Given the description of an element on the screen output the (x, y) to click on. 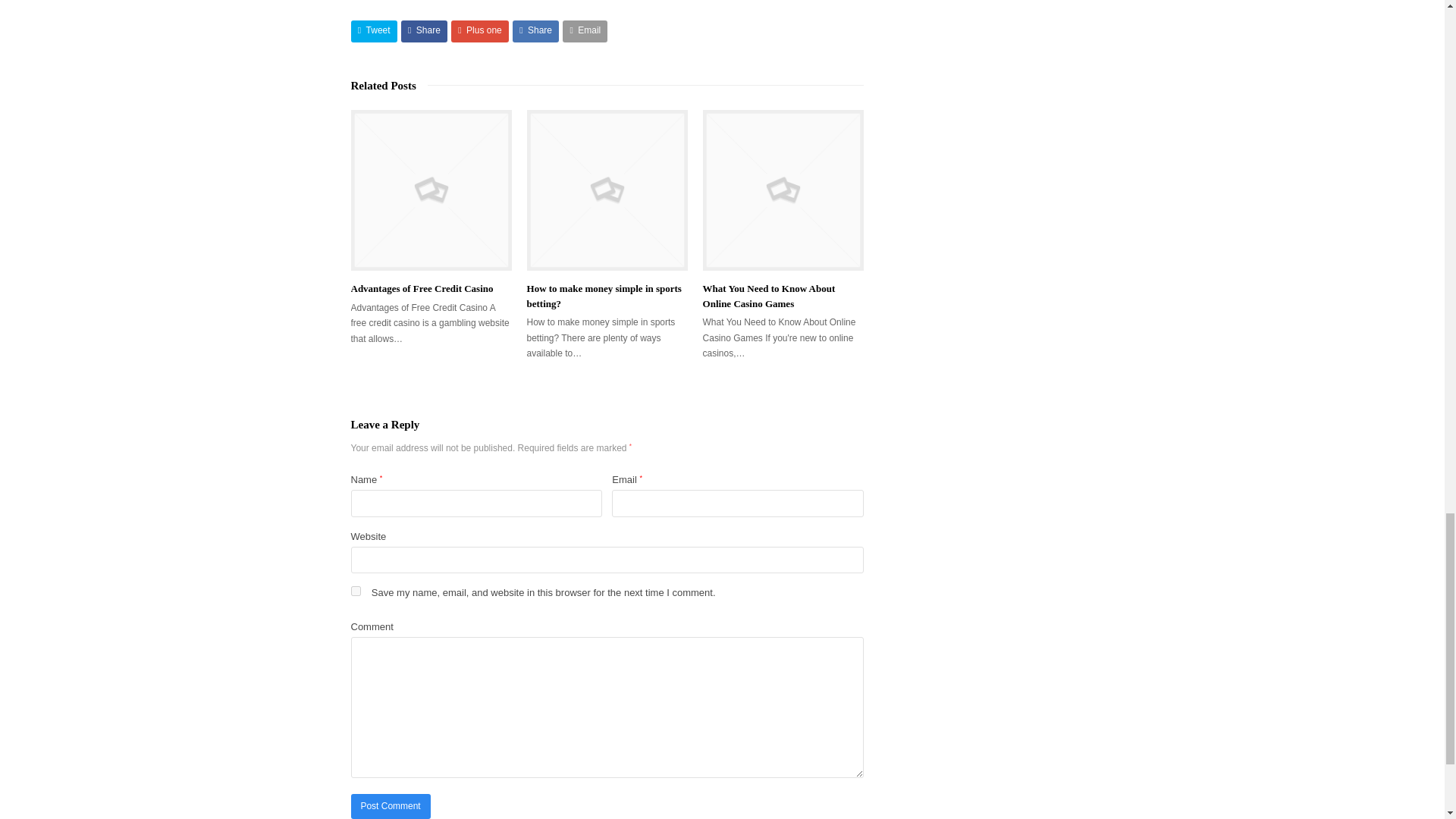
How to make money simple in sports betting? (607, 190)
Email (584, 31)
What You Need to Know About Online Casino Games (769, 295)
Advantages of Free Credit Casino (421, 288)
Post Comment (389, 806)
yes (354, 591)
Share (423, 31)
What You Need to Know About Online Casino Games (783, 190)
Plus one (479, 31)
Tweet (373, 31)
